Given the description of an element on the screen output the (x, y) to click on. 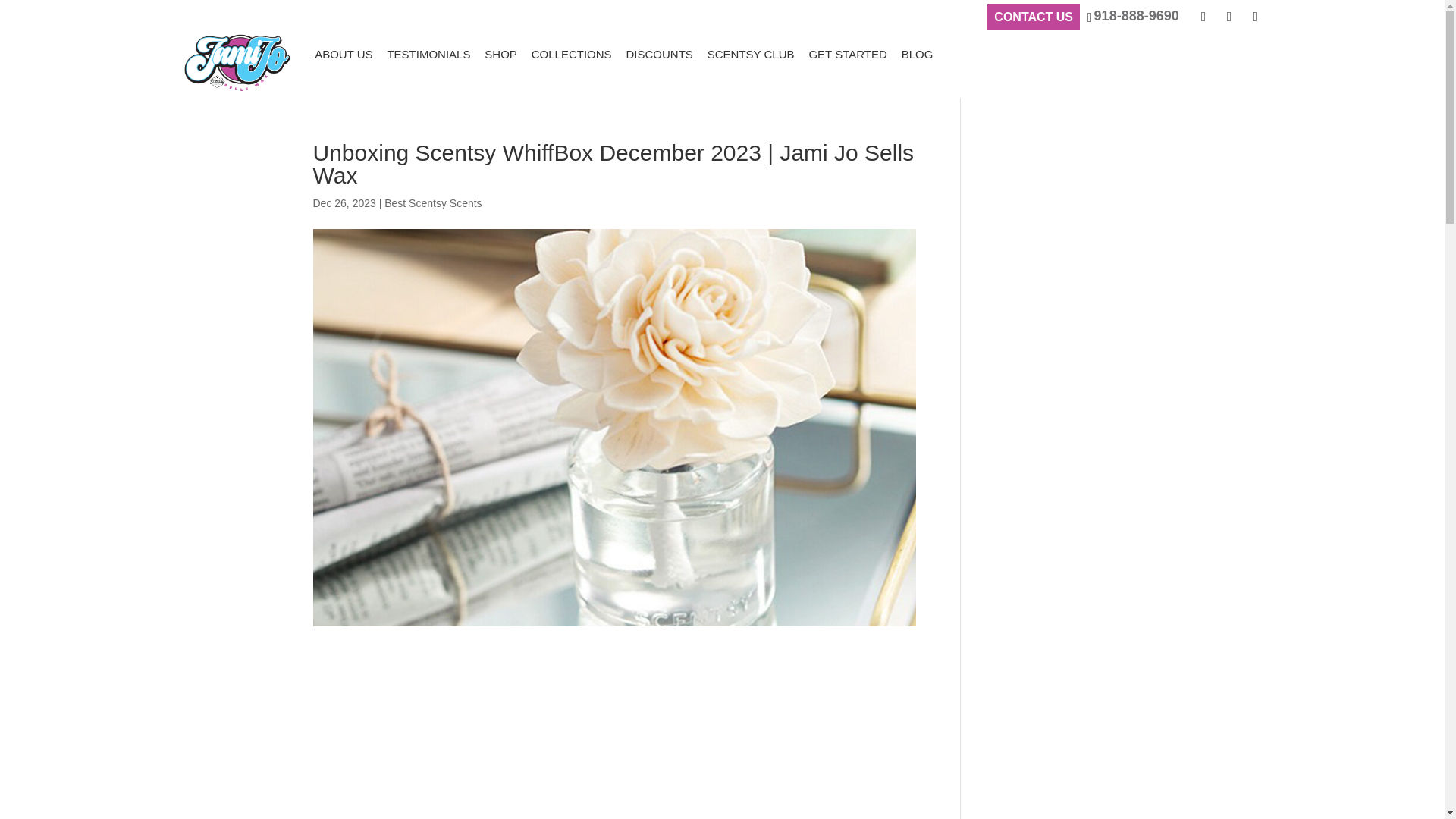
COLLECTIONS (571, 54)
918-888-9690 (1133, 16)
ABOUT US (343, 54)
TESTIMONIALS (428, 54)
BLOG (917, 54)
GET STARTED (847, 54)
SHOP (500, 54)
DISCOUNTS (659, 54)
CONTACT US (1033, 17)
SCENTSY CLUB (750, 54)
